Given the description of an element on the screen output the (x, y) to click on. 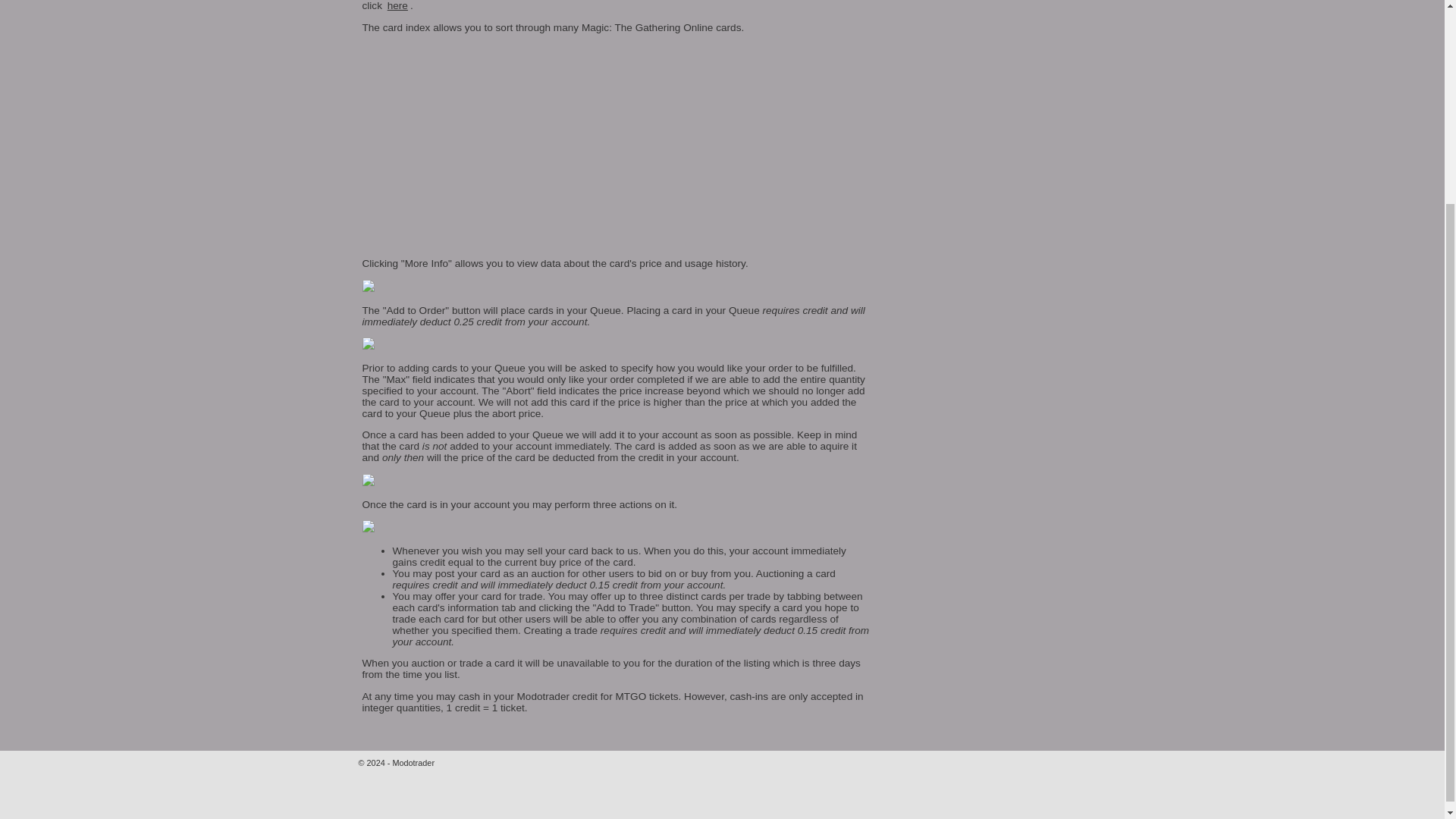
here (397, 5)
